Given the description of an element on the screen output the (x, y) to click on. 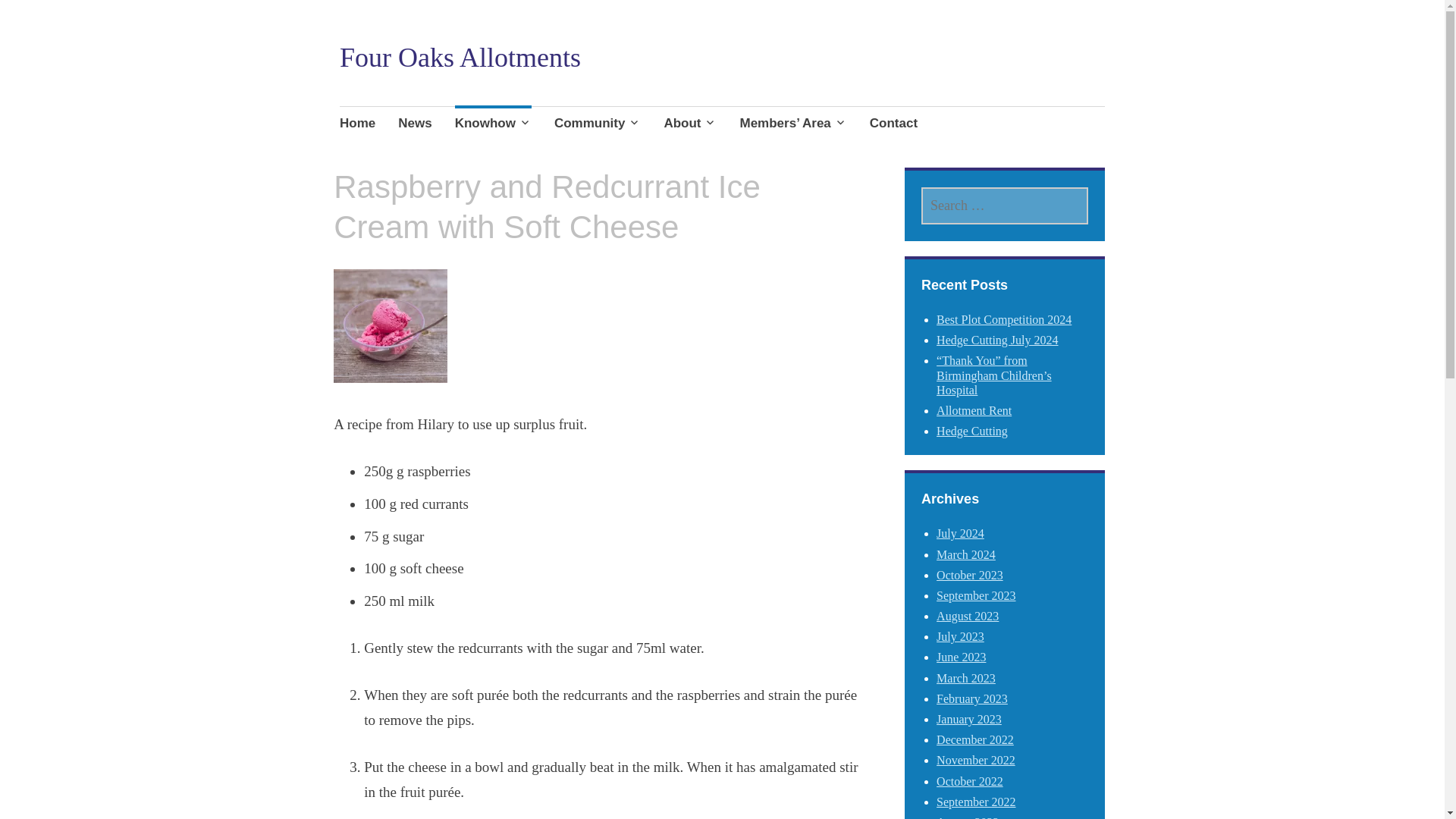
Home (357, 124)
Knowhow (492, 124)
Four Oaks Allotments (459, 57)
Community (598, 124)
